Given the description of an element on the screen output the (x, y) to click on. 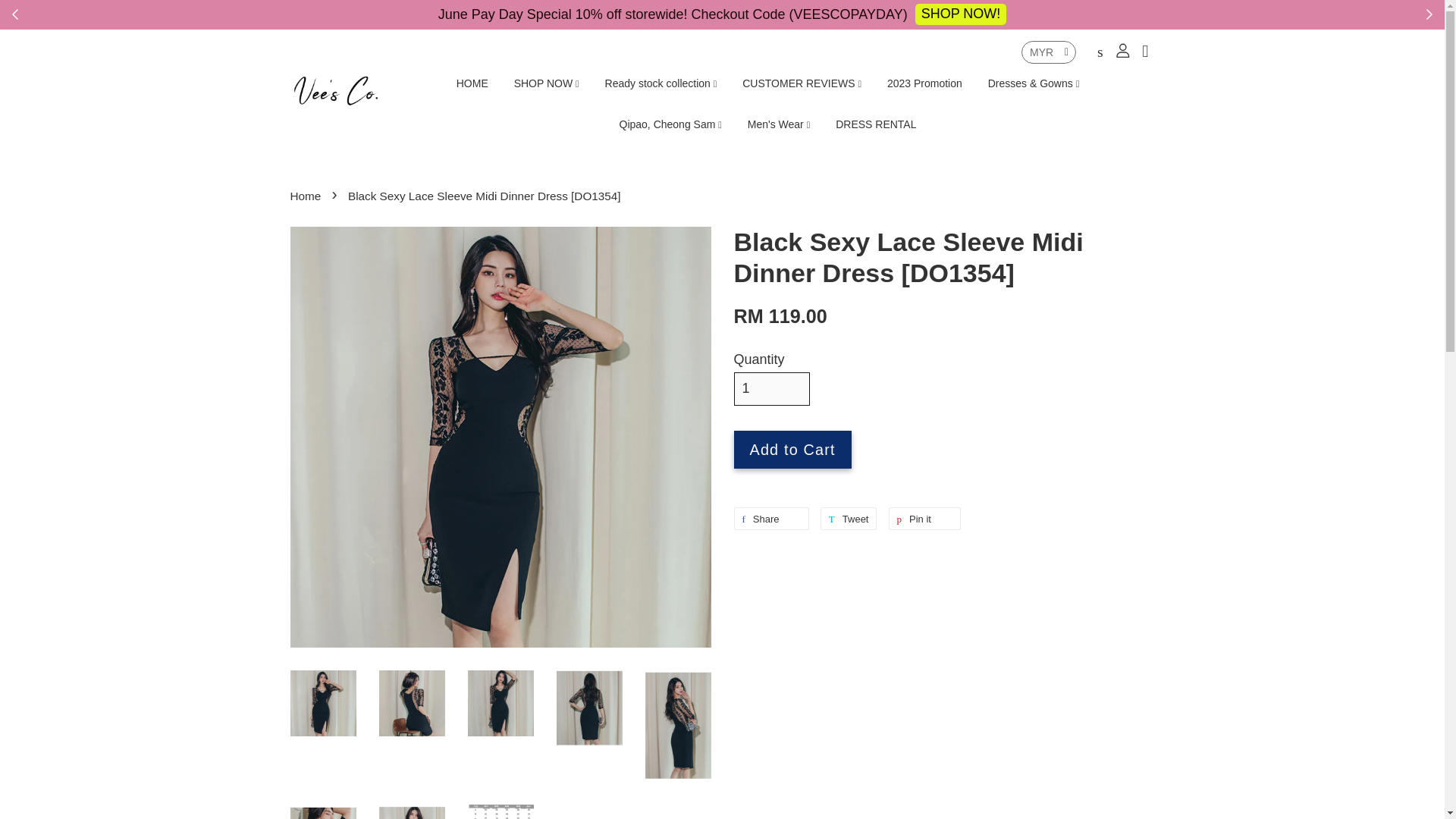
1 (771, 388)
Back to the homepage (306, 195)
